Given the description of an element on the screen output the (x, y) to click on. 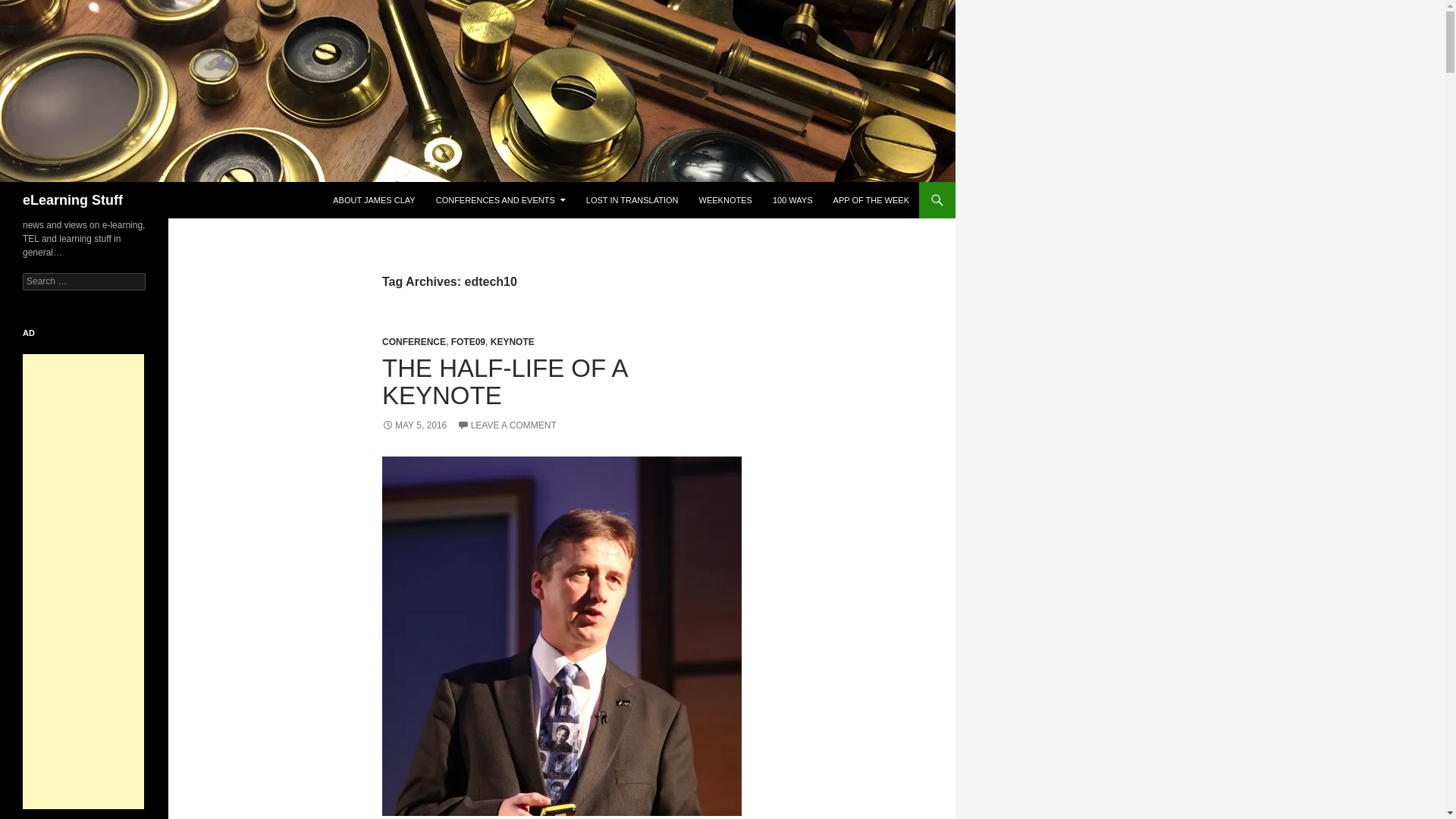
CONFERENCES AND EVENTS (500, 199)
ABOUT JAMES CLAY (373, 199)
100 WAYS (792, 199)
eLearning Stuff (72, 199)
LEAVE A COMMENT (506, 425)
WEEKNOTES (725, 199)
LOST IN TRANSLATION (631, 199)
FOTE09 (467, 341)
CONFERENCE (413, 341)
